Given the description of an element on the screen output the (x, y) to click on. 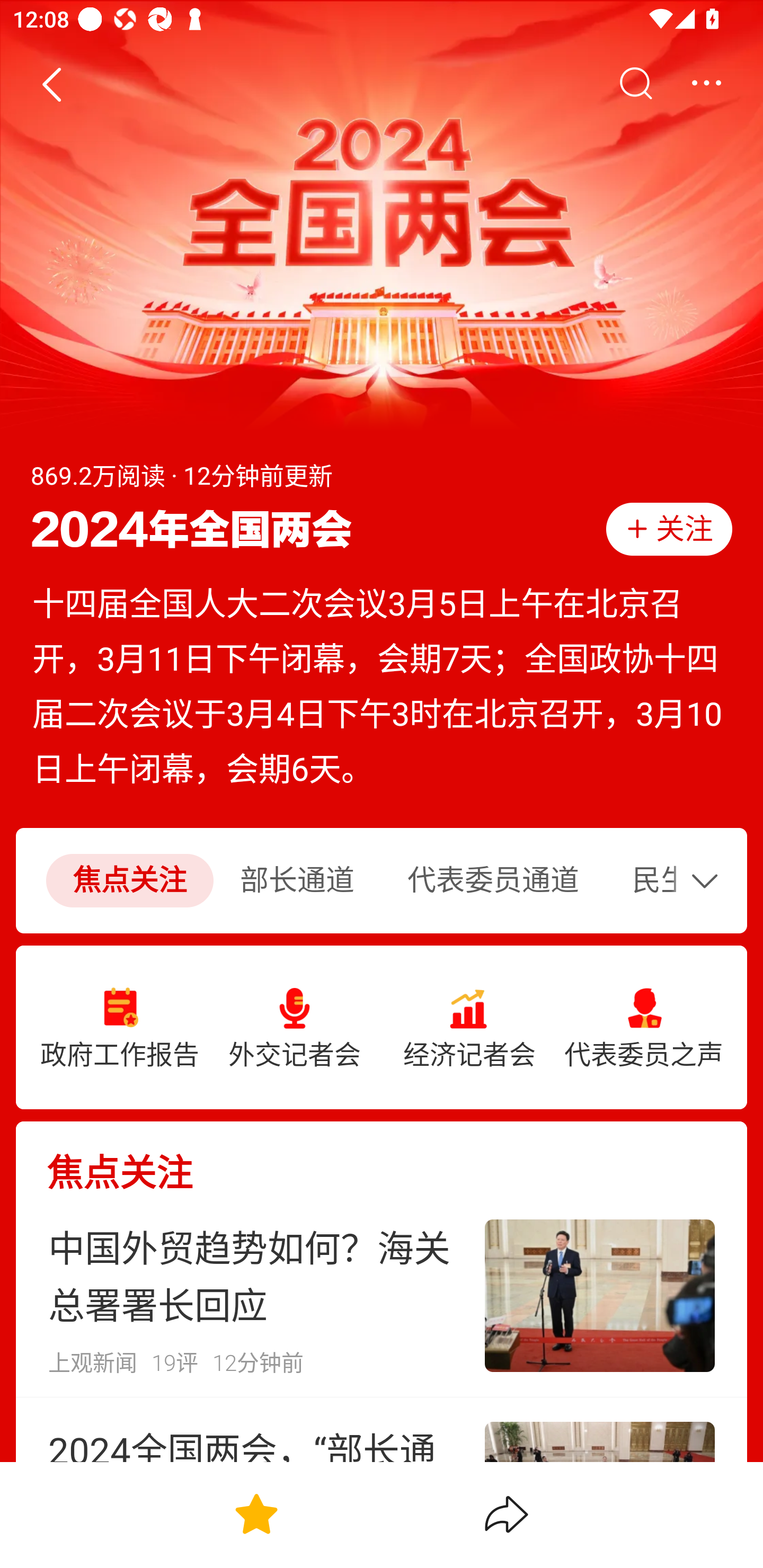
 (50, 83)
 (634, 83)
 (705, 83)
 关注 (668, 529)
焦点关注 (129, 880)
部长通道 (296, 880)
代表委员通道 (492, 880)
 (708, 880)
政府工作报告 (119, 1027)
外交记者会 (294, 1027)
经济记者会 (469, 1027)
代表委员之声 (643, 1027)
焦点关注 (381, 1157)
中国外贸趋势如何？海关总署署长回应 上观新闻 19评 12分钟前 (381, 1295)
收藏  (255, 1514)
分享  (506, 1514)
